Given the description of an element on the screen output the (x, y) to click on. 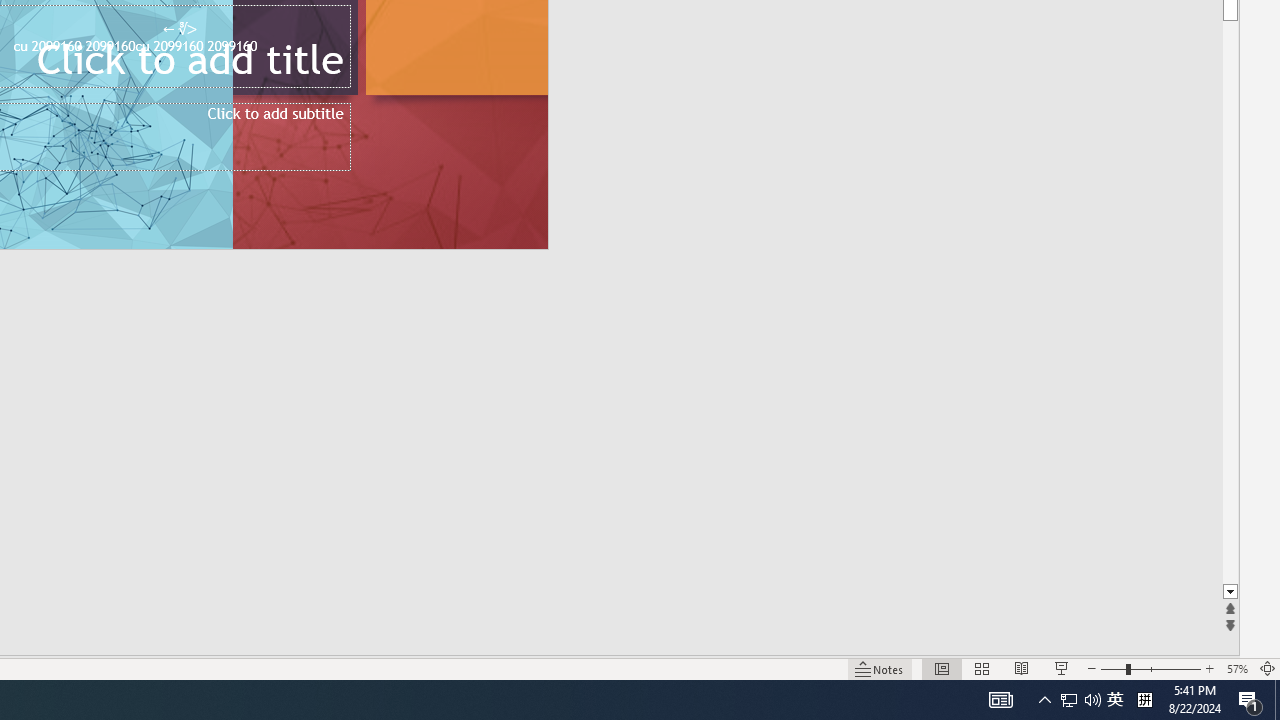
Zoom 57% (1236, 668)
TextBox 7 (179, 29)
TextBox 61 (186, 48)
